Given the description of an element on the screen output the (x, y) to click on. 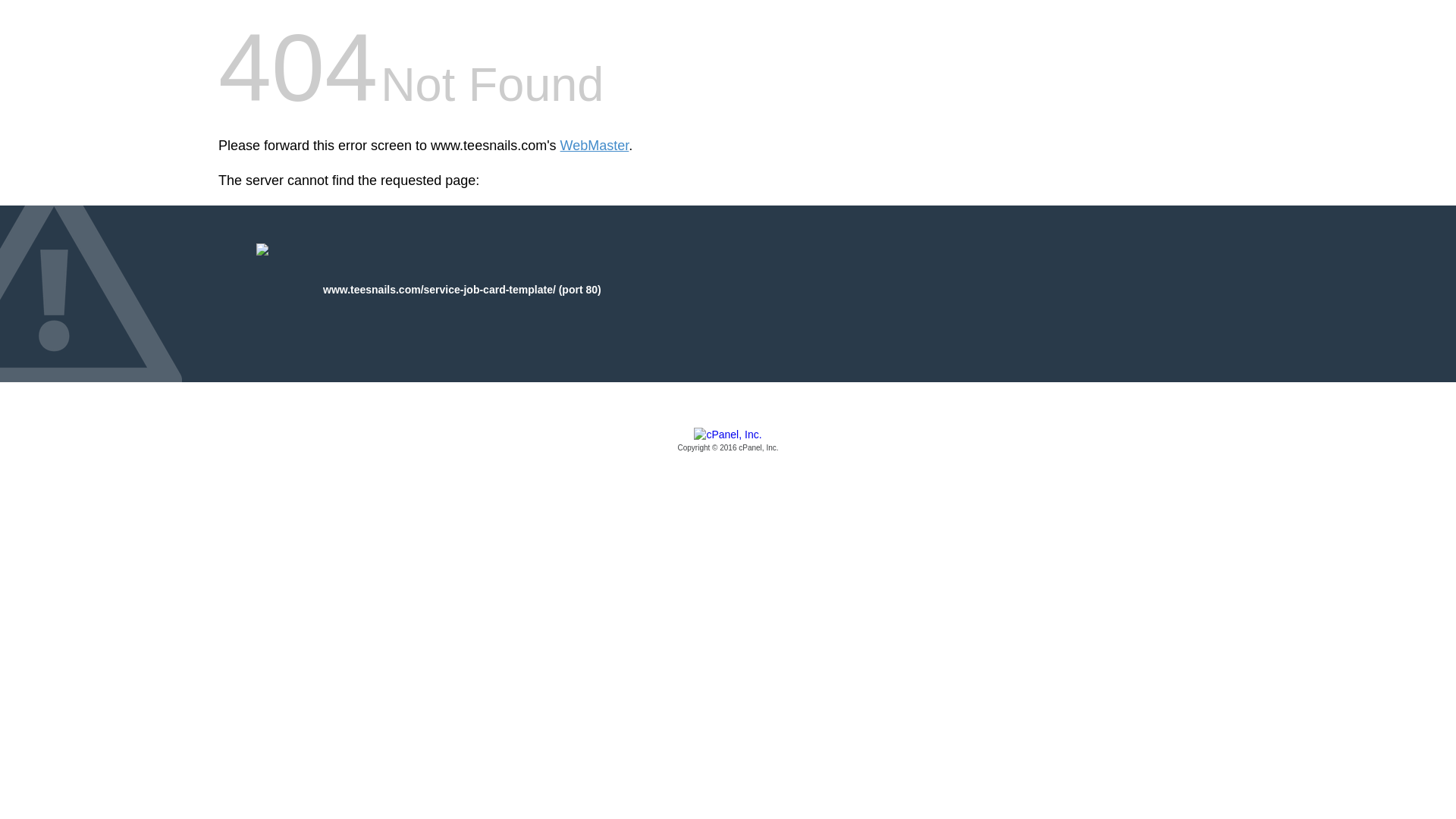
cPanel, Inc. (727, 440)
WebMaster (594, 145)
